Given the description of an element on the screen output the (x, y) to click on. 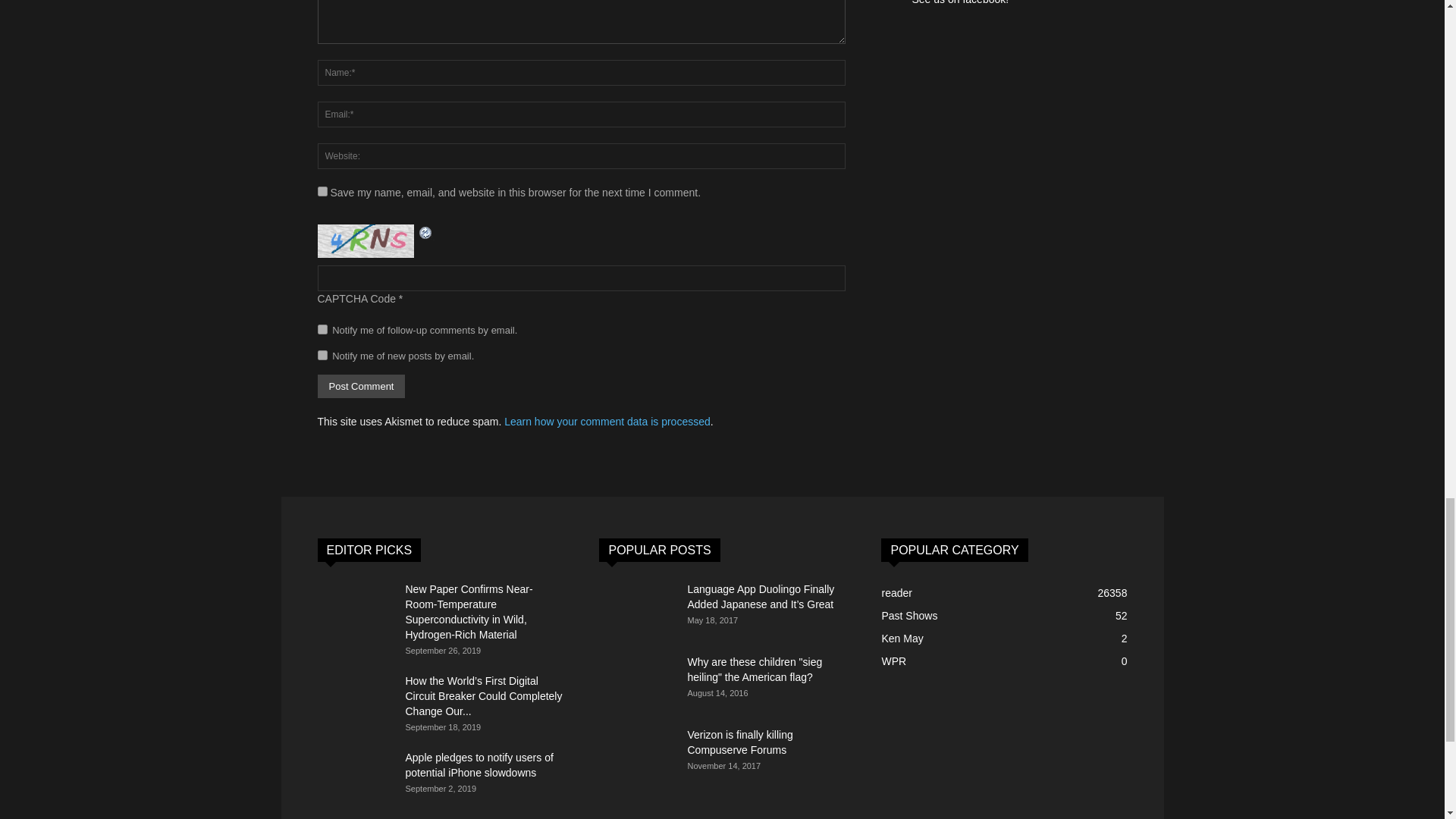
yes (321, 191)
subscribe (321, 355)
Post Comment (360, 386)
subscribe (321, 329)
